Given the description of an element on the screen output the (x, y) to click on. 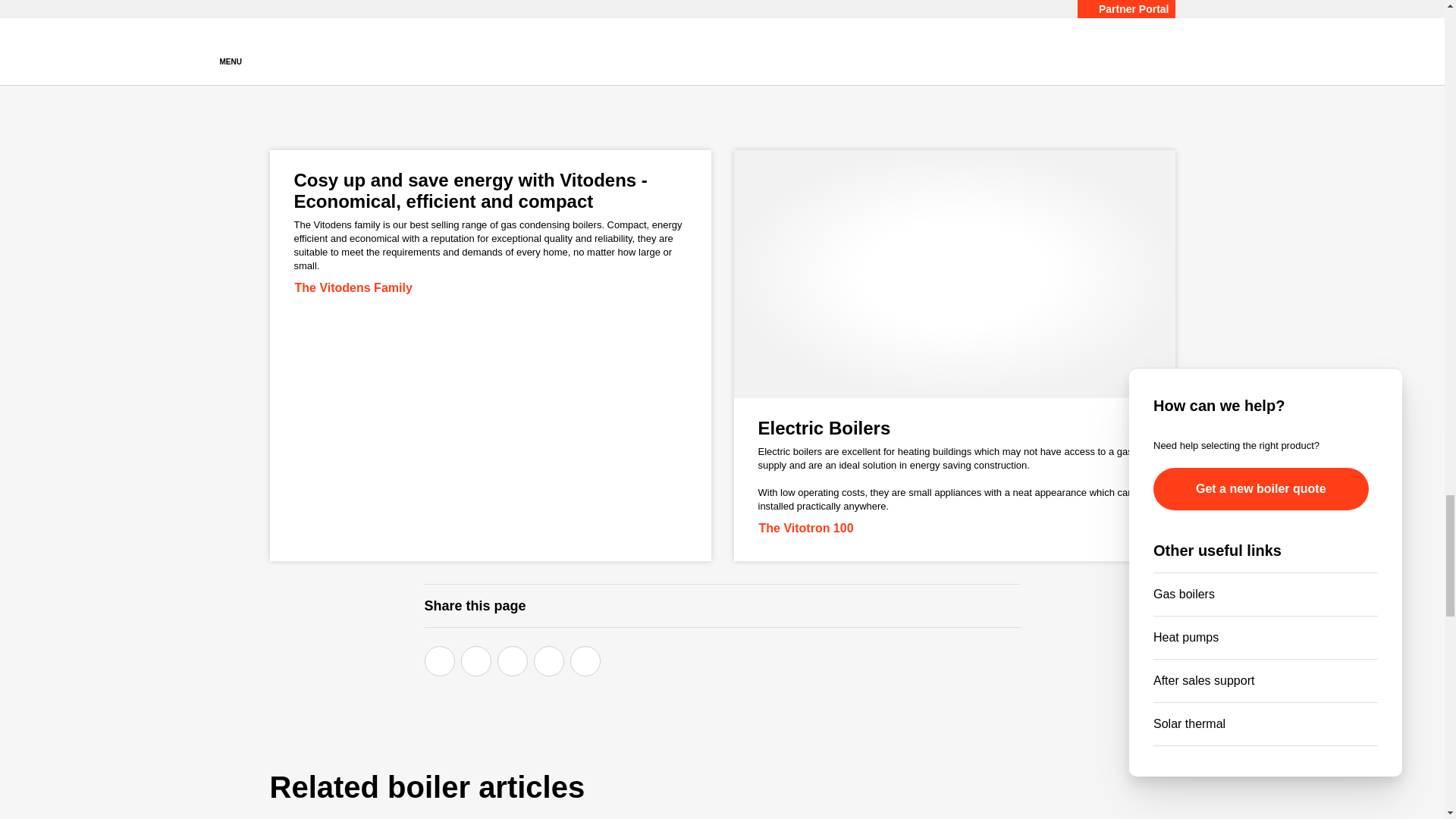
Share on LinkedIn (512, 661)
Vitotron (953, 273)
Share via Mail (584, 661)
Share on Xing (549, 661)
Share on Twitter (476, 661)
Share on Facebook (439, 661)
Viessmann gas boiler in kitchen (915, 29)
